Given the description of an element on the screen output the (x, y) to click on. 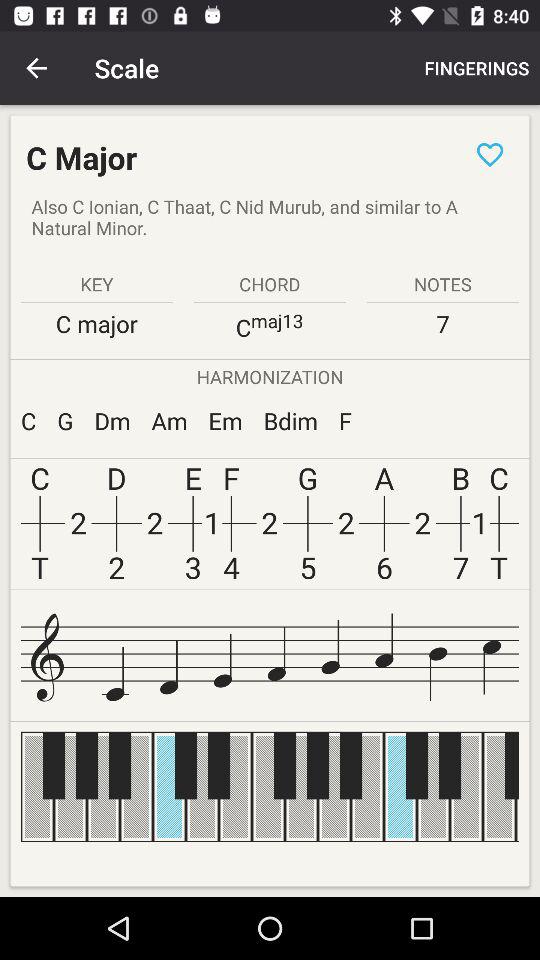
press the icon to the left of scale item (36, 68)
